Given the description of an element on the screen output the (x, y) to click on. 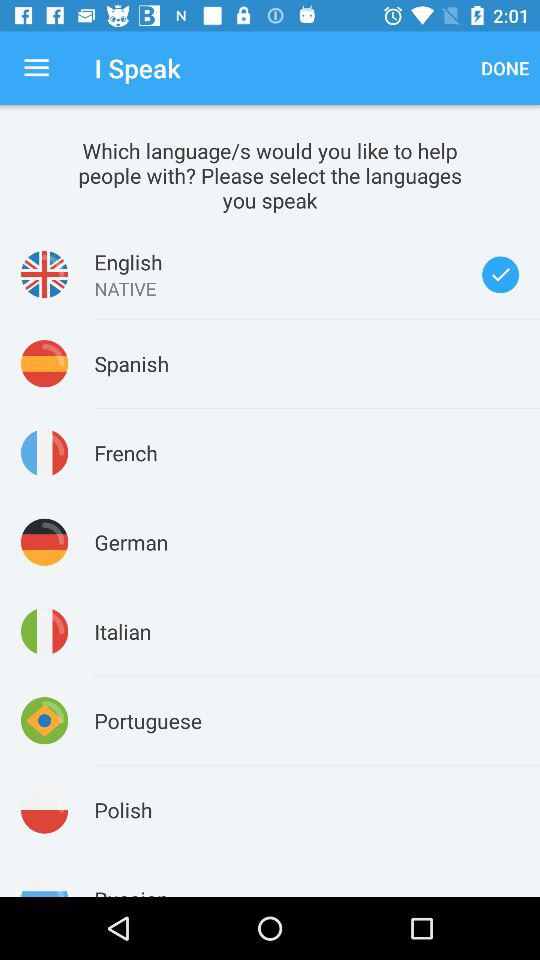
open app to the right of the i speak app (505, 67)
